Given the description of an element on the screen output the (x, y) to click on. 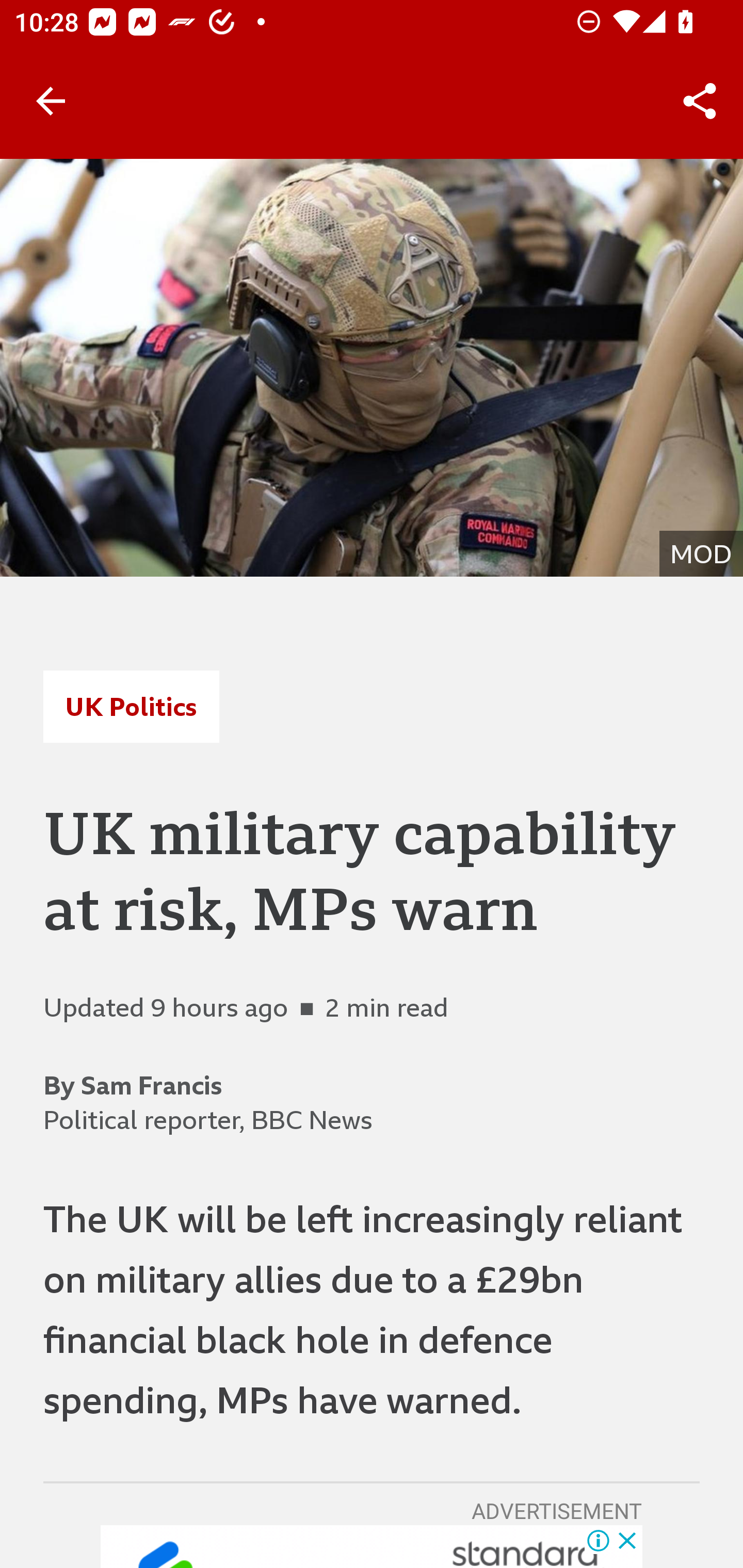
Back (50, 101)
Share (699, 101)
UK Politics (131, 706)
